Given the description of an element on the screen output the (x, y) to click on. 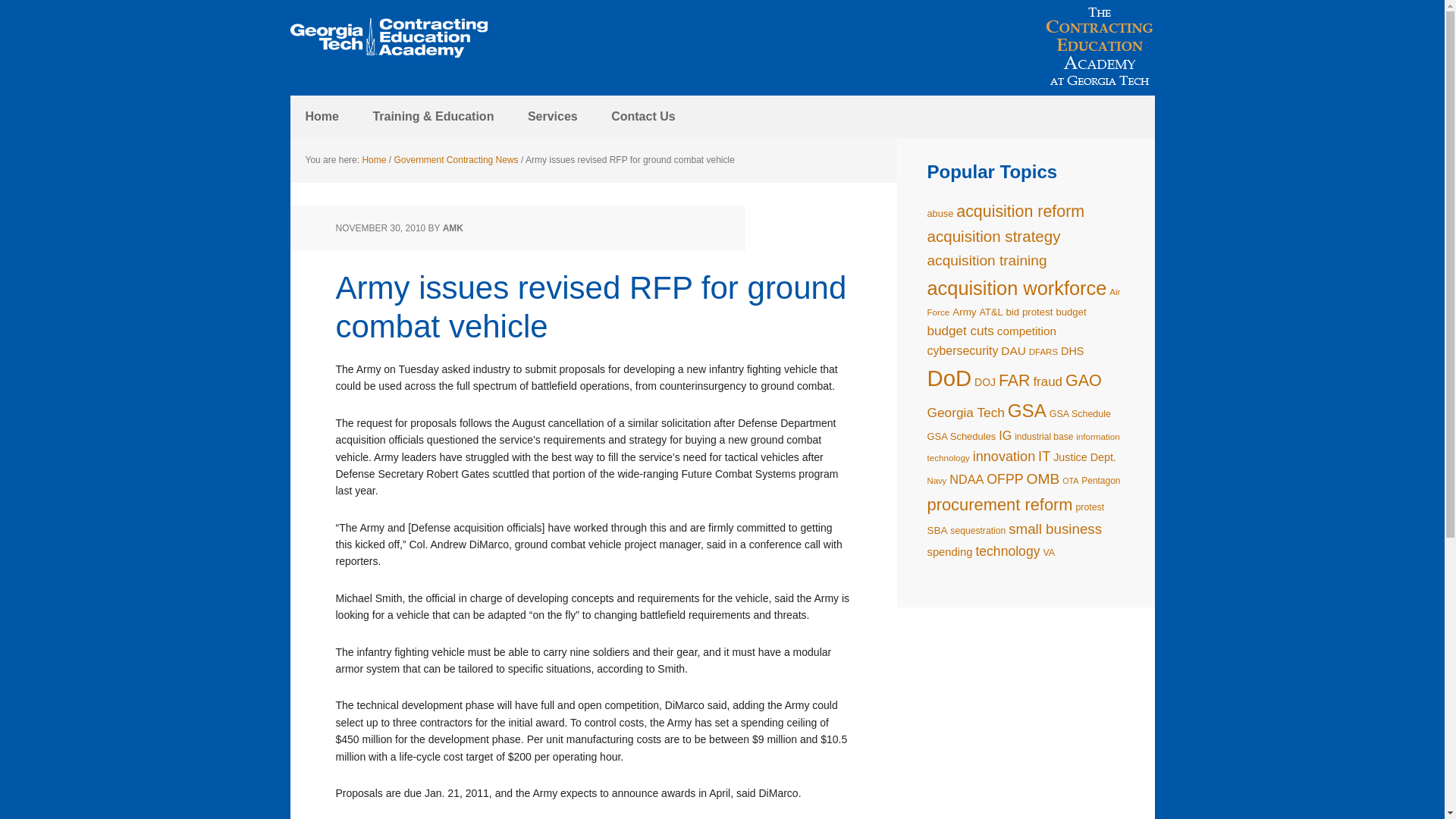
Government Contracting News (456, 159)
Services (552, 116)
industrial base (1043, 436)
AMK (452, 227)
cybersecurity (961, 350)
GAO (1083, 380)
DOJ (984, 381)
Georgia Tech (965, 412)
The Contracting Education Academy (387, 38)
budget (1070, 311)
